Given the description of an element on the screen output the (x, y) to click on. 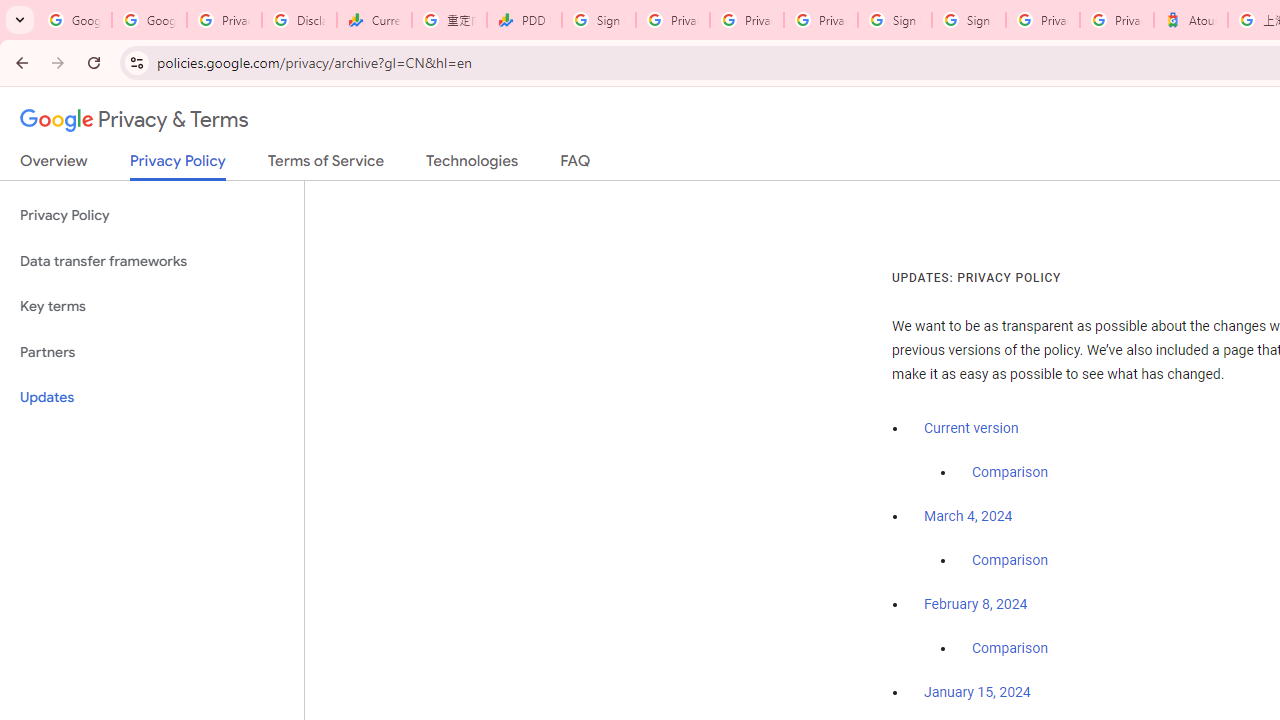
Current version (971, 428)
Data transfer frameworks (152, 261)
PDD Holdings Inc - ADR (PDD) Price & News - Google Finance (523, 20)
